Given the description of an element on the screen output the (x, y) to click on. 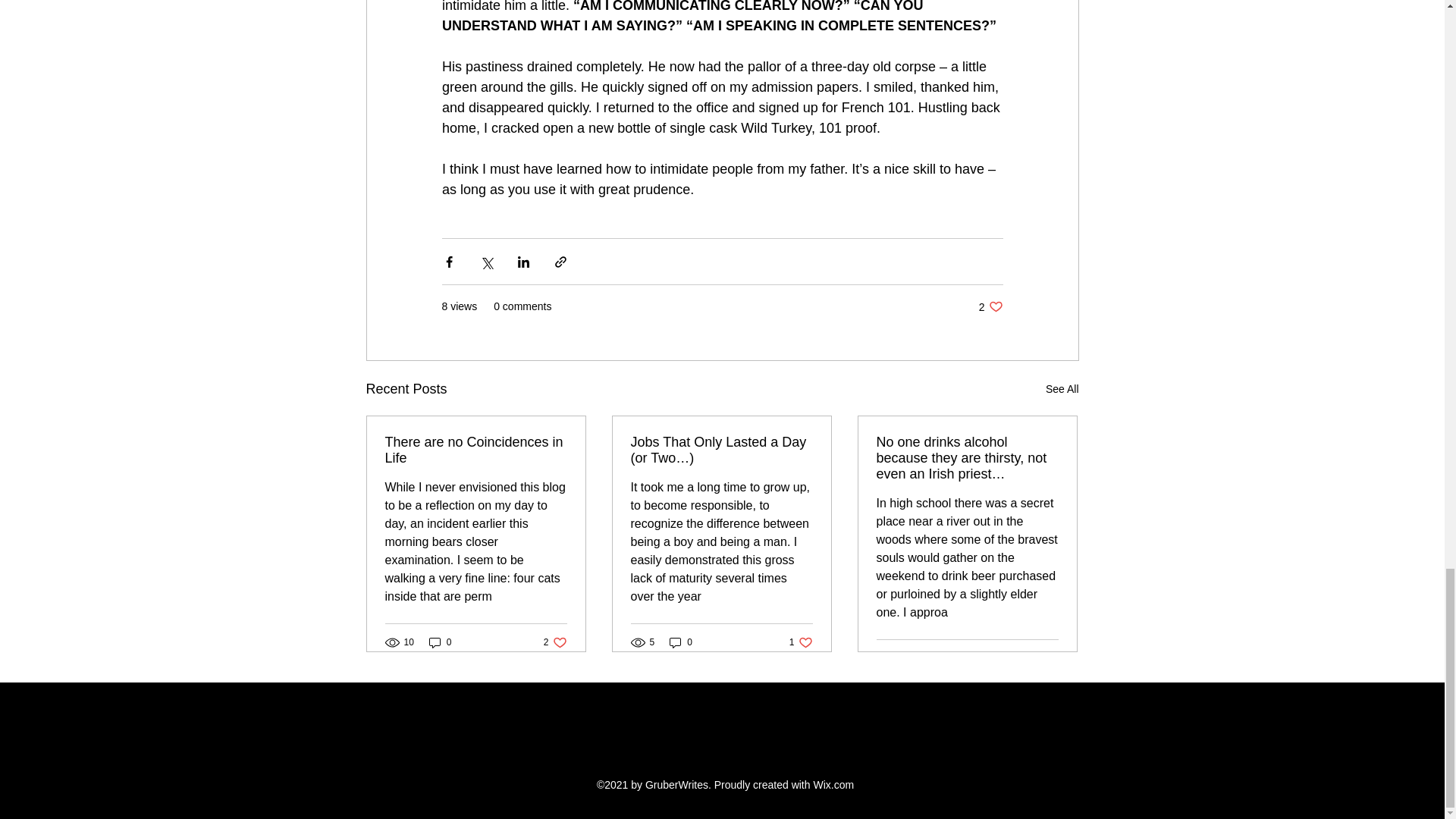
There are no Coincidences in Life (800, 642)
1 like. Post not marked as liked (555, 642)
0 (476, 450)
0 (1046, 658)
See All (681, 642)
